Given the description of an element on the screen output the (x, y) to click on. 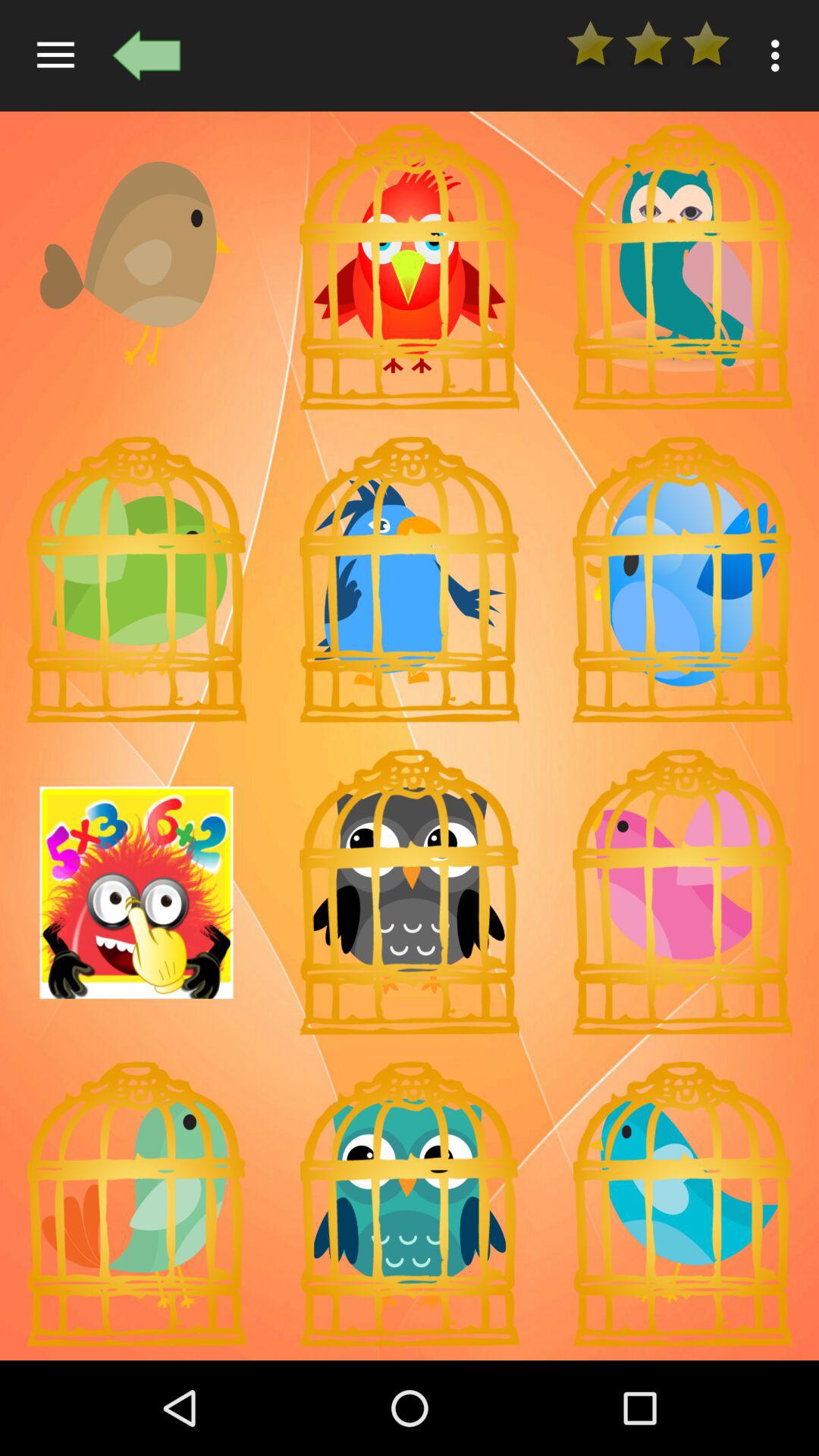
choose your choice (409, 579)
